Given the description of an element on the screen output the (x, y) to click on. 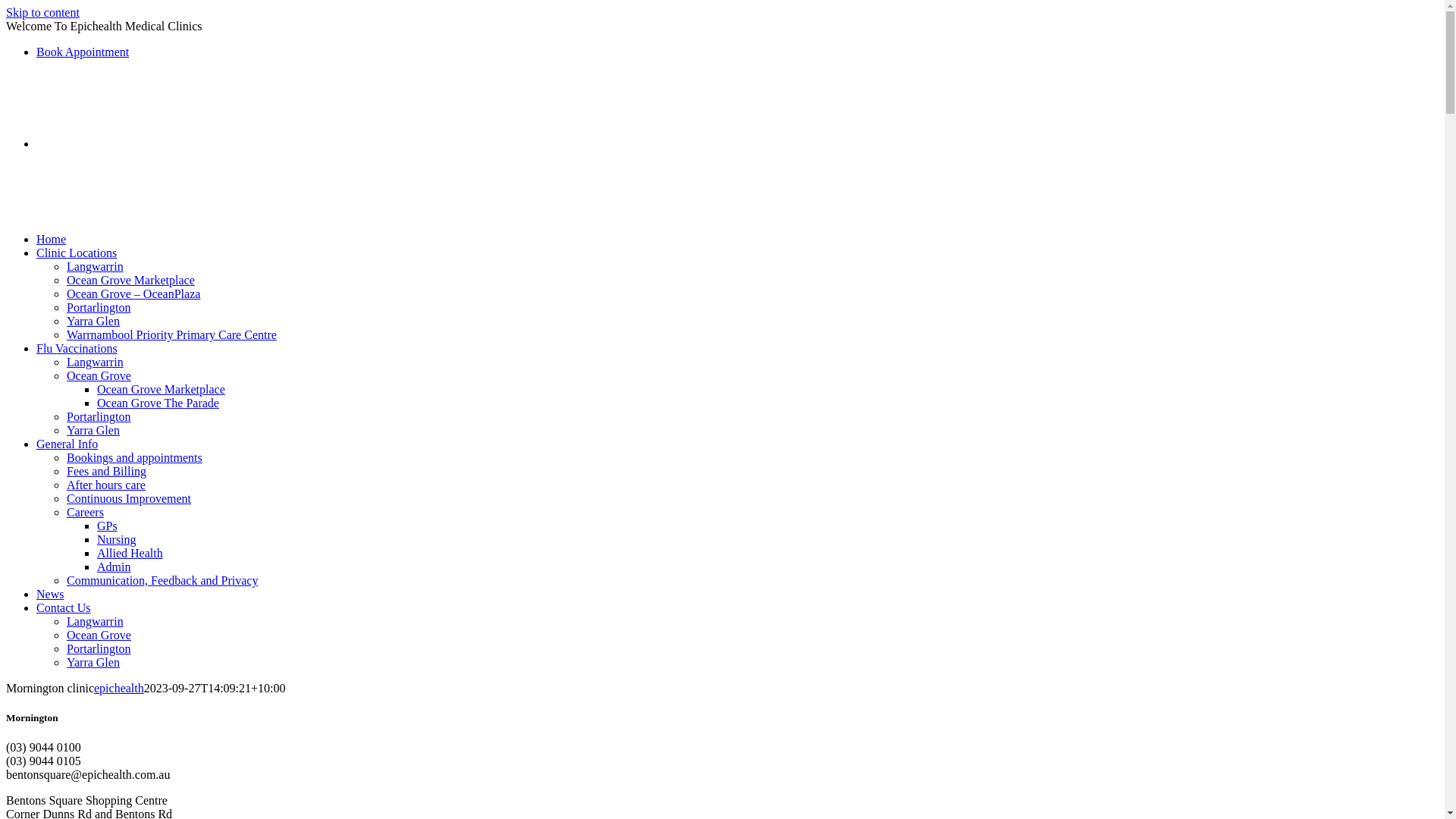
General Info Element type: text (66, 443)
Nursing Element type: text (116, 539)
epichealth Element type: text (119, 687)
Ocean Grove Element type: text (98, 375)
Ocean Grove Element type: text (98, 634)
Communication, Feedback and Privacy Element type: text (161, 580)
Home Element type: text (50, 238)
Skip to content Element type: text (42, 12)
Portarlington Element type: text (98, 307)
News Element type: text (49, 593)
GPs Element type: text (107, 525)
Book Appointment Element type: text (82, 51)
Ocean Grove Marketplace Element type: text (130, 279)
Contact Us Element type: text (63, 607)
Langwarrin Element type: text (94, 266)
Careers Element type: text (84, 511)
Ocean Grove The Parade Element type: text (158, 402)
Flu Vaccinations Element type: text (76, 348)
Yarra Glen Element type: text (92, 320)
Clinic Locations Element type: text (76, 252)
Yarra Glen Element type: text (92, 429)
Portarlington Element type: text (98, 416)
Bookings and appointments Element type: text (134, 457)
Warrnambool Priority Primary Care Centre Element type: text (171, 334)
Ocean Grove Marketplace Element type: text (161, 388)
Admin Element type: text (113, 566)
Allied Health Element type: text (130, 552)
Langwarrin Element type: text (94, 361)
Continuous Improvement Element type: text (128, 498)
After hours care Element type: text (105, 484)
Yarra Glen Element type: text (92, 661)
Langwarrin Element type: text (94, 621)
Fees and Billing Element type: text (106, 470)
Portarlington Element type: text (98, 648)
